Given the description of an element on the screen output the (x, y) to click on. 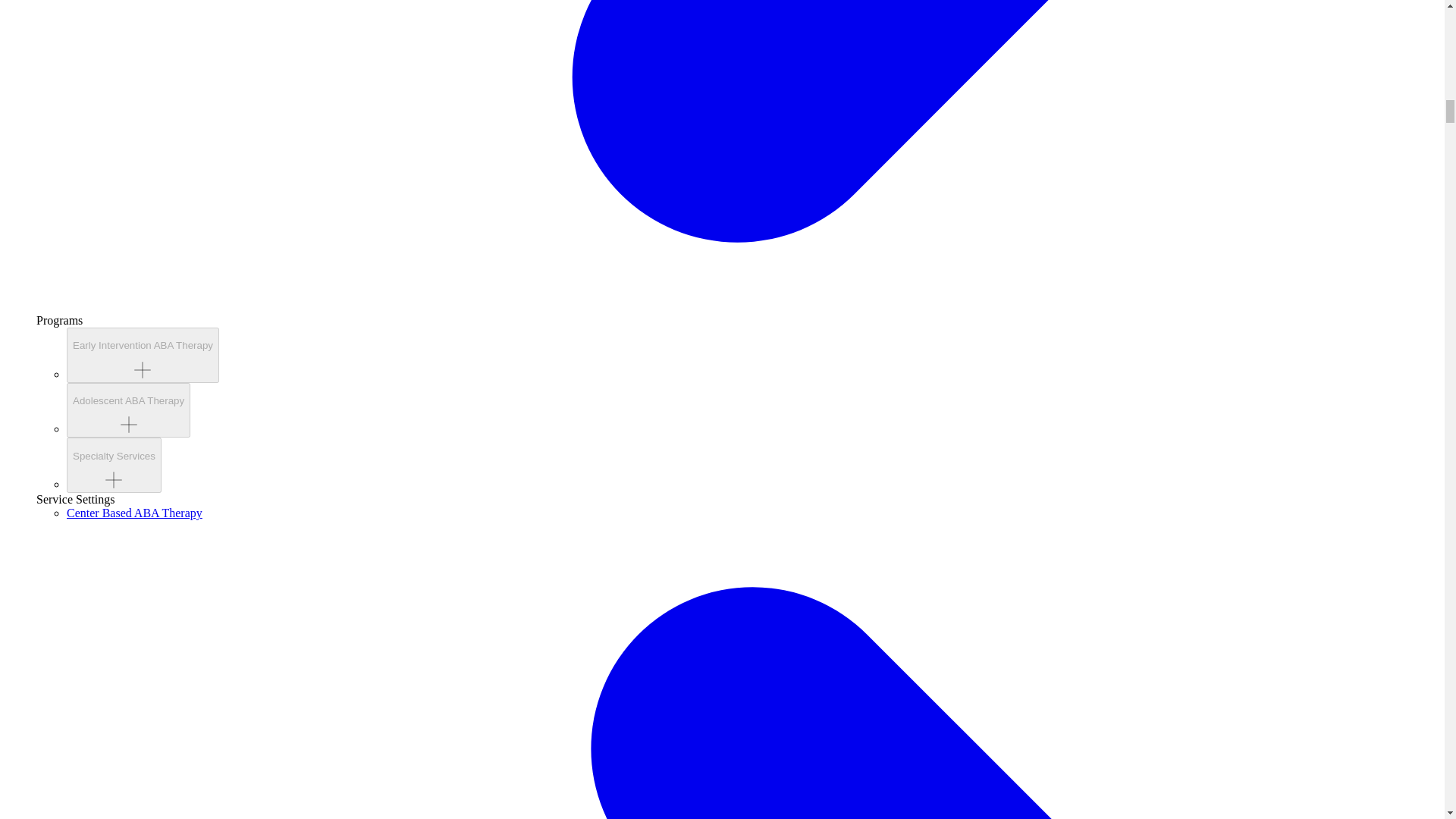
Specialty Services (113, 465)
Early Intervention ABA Therapy (142, 355)
Adolescent ABA Therapy (128, 410)
